Given the description of an element on the screen output the (x, y) to click on. 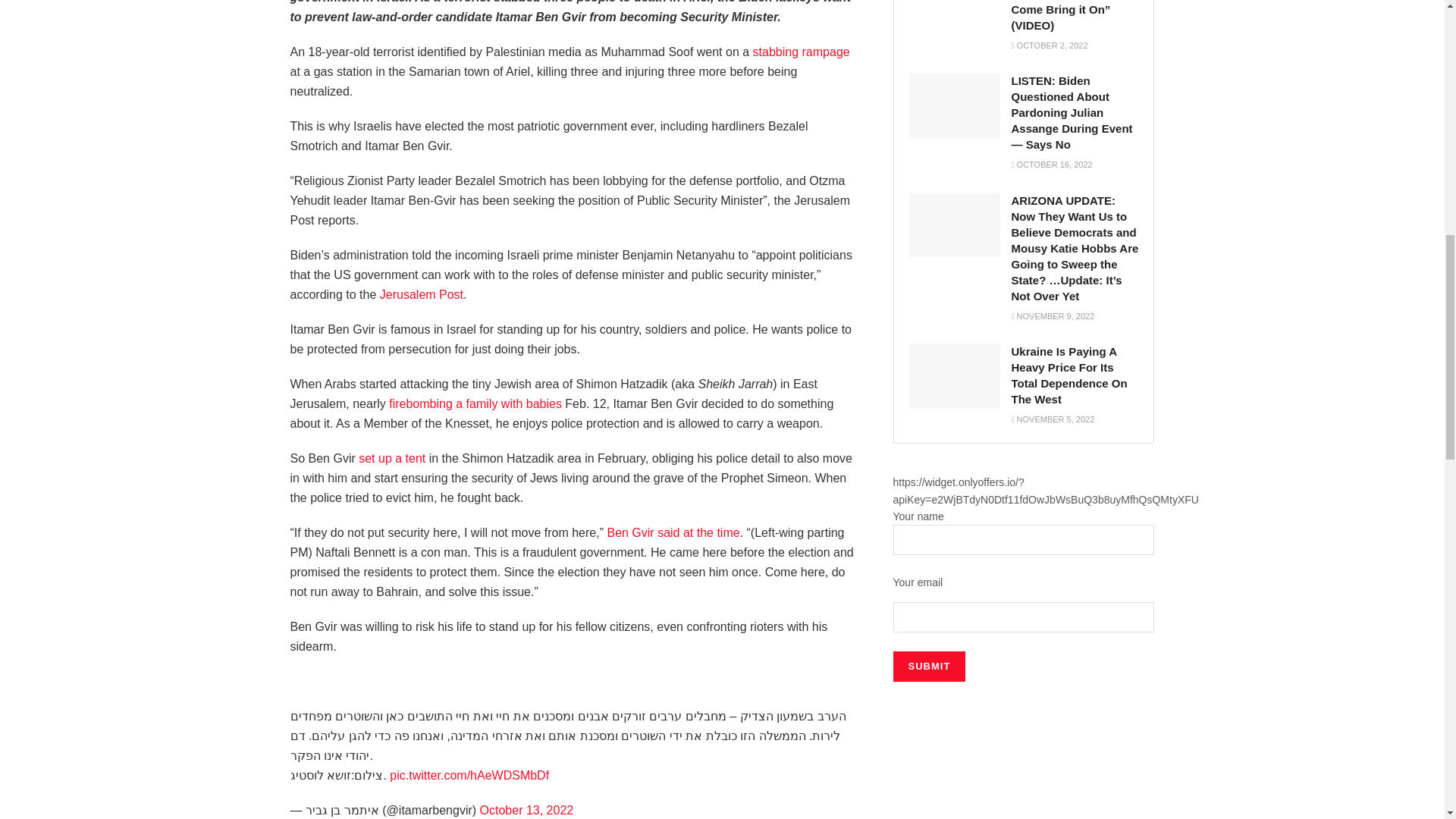
Submit (929, 666)
